Given the description of an element on the screen output the (x, y) to click on. 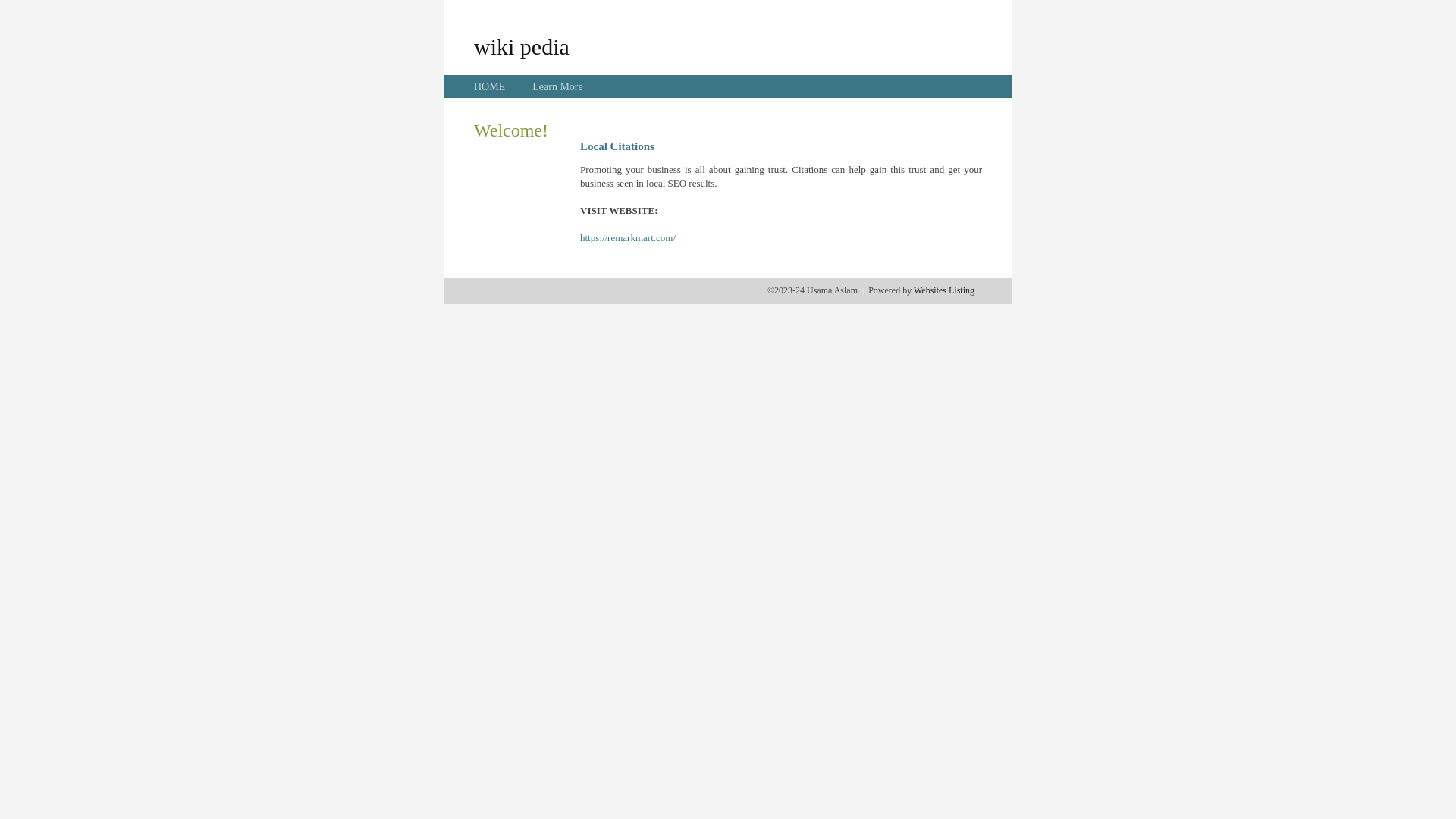
Learn More Element type: text (557, 86)
Websites Listing Element type: text (943, 290)
https://remarkmart.com/ Element type: text (627, 237)
HOME Element type: text (489, 86)
wiki pedia Element type: text (521, 46)
